Given the description of an element on the screen output the (x, y) to click on. 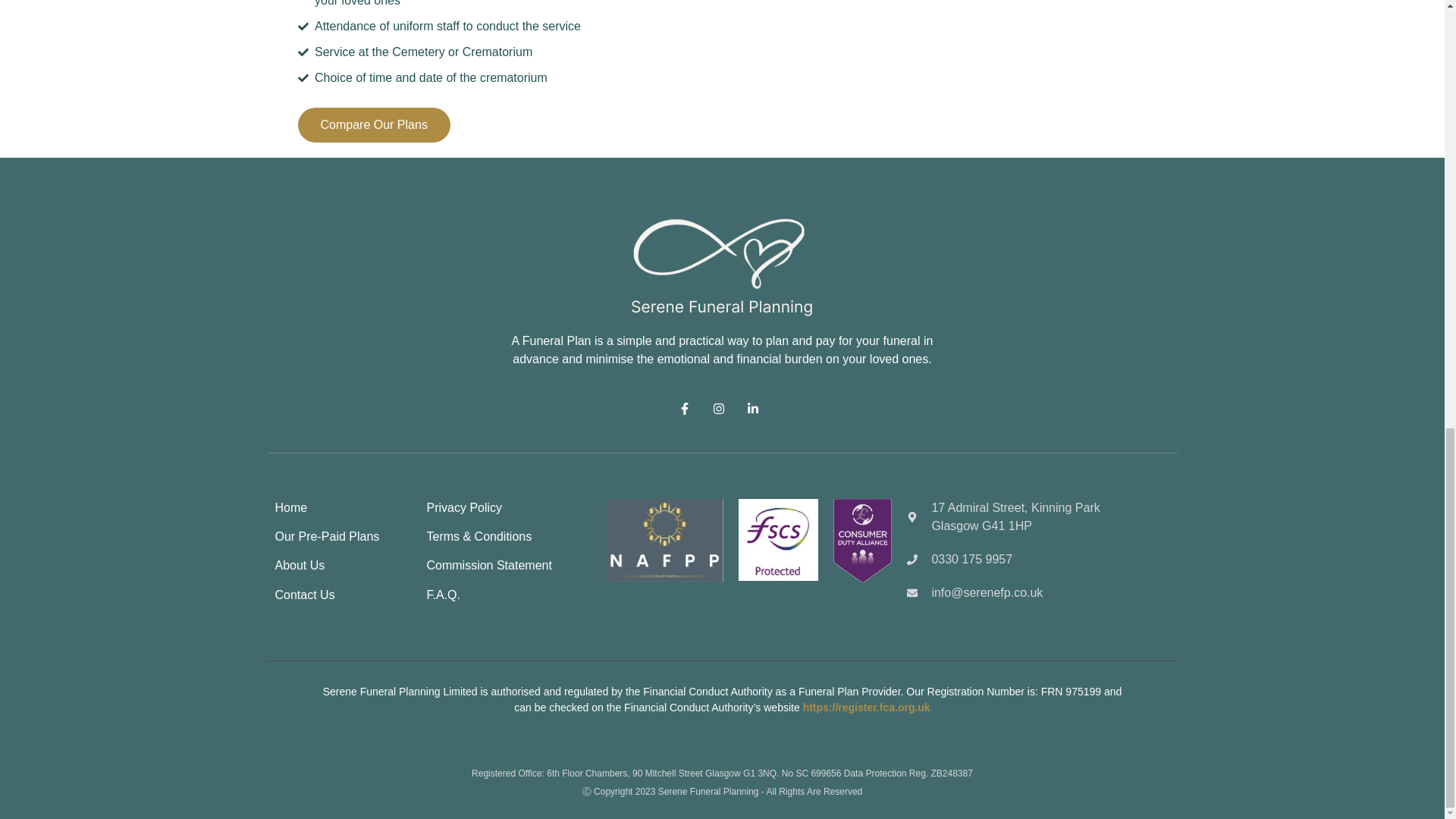
Home (291, 507)
Contact Us (304, 594)
Commission Statement (488, 564)
Privacy Policy (464, 507)
Compare Our Plans (373, 124)
F.A.Q. (443, 594)
Our Pre-Paid Plans (326, 535)
About Us (299, 564)
